Given the description of an element on the screen output the (x, y) to click on. 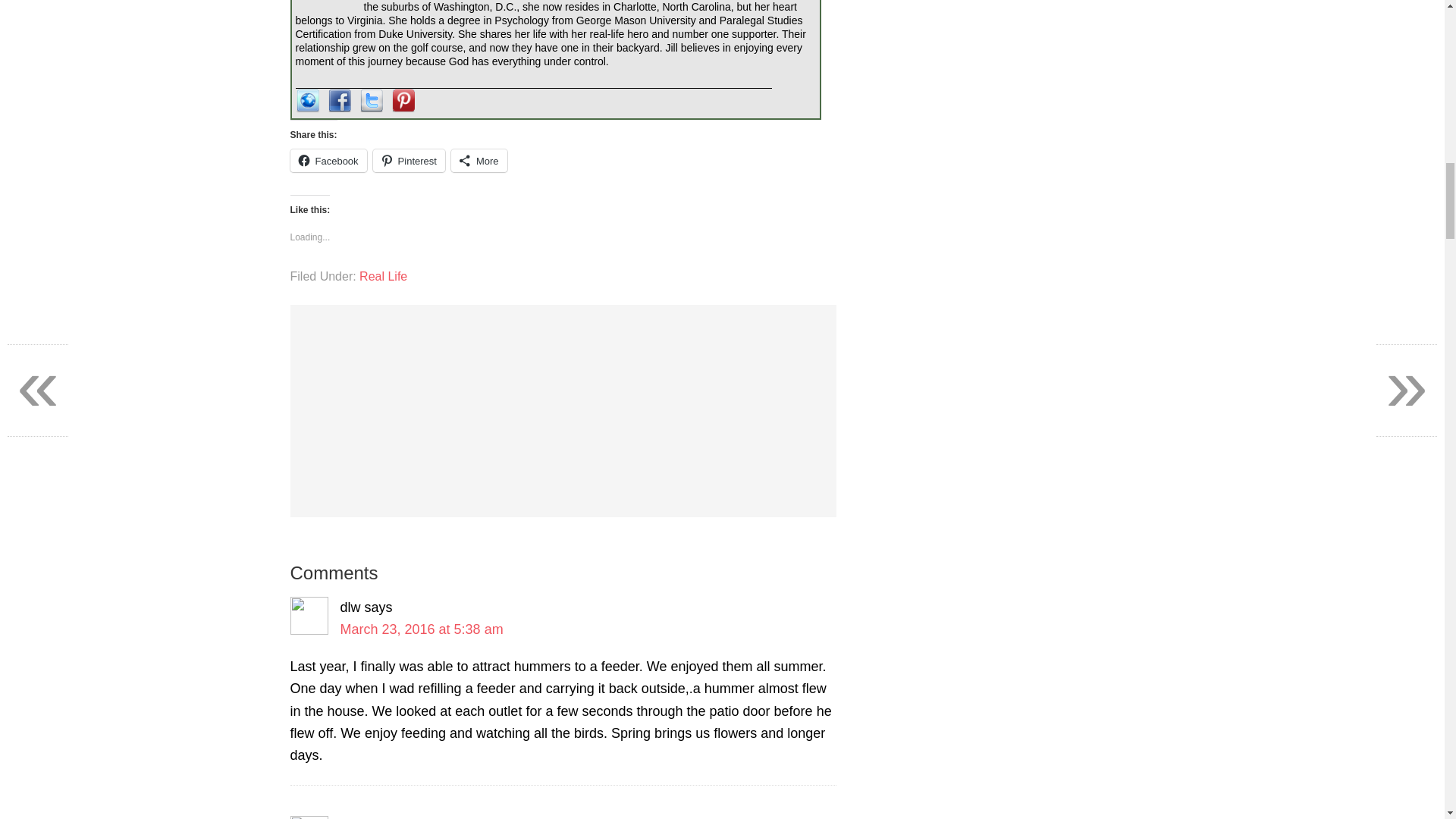
Real Life (383, 276)
March 23, 2016 at 5:38 am (420, 629)
Pinterest (408, 160)
Click to share on Pinterest (408, 160)
More (478, 160)
Click to share on Facebook (327, 160)
Facebook (327, 160)
